Given the description of an element on the screen output the (x, y) to click on. 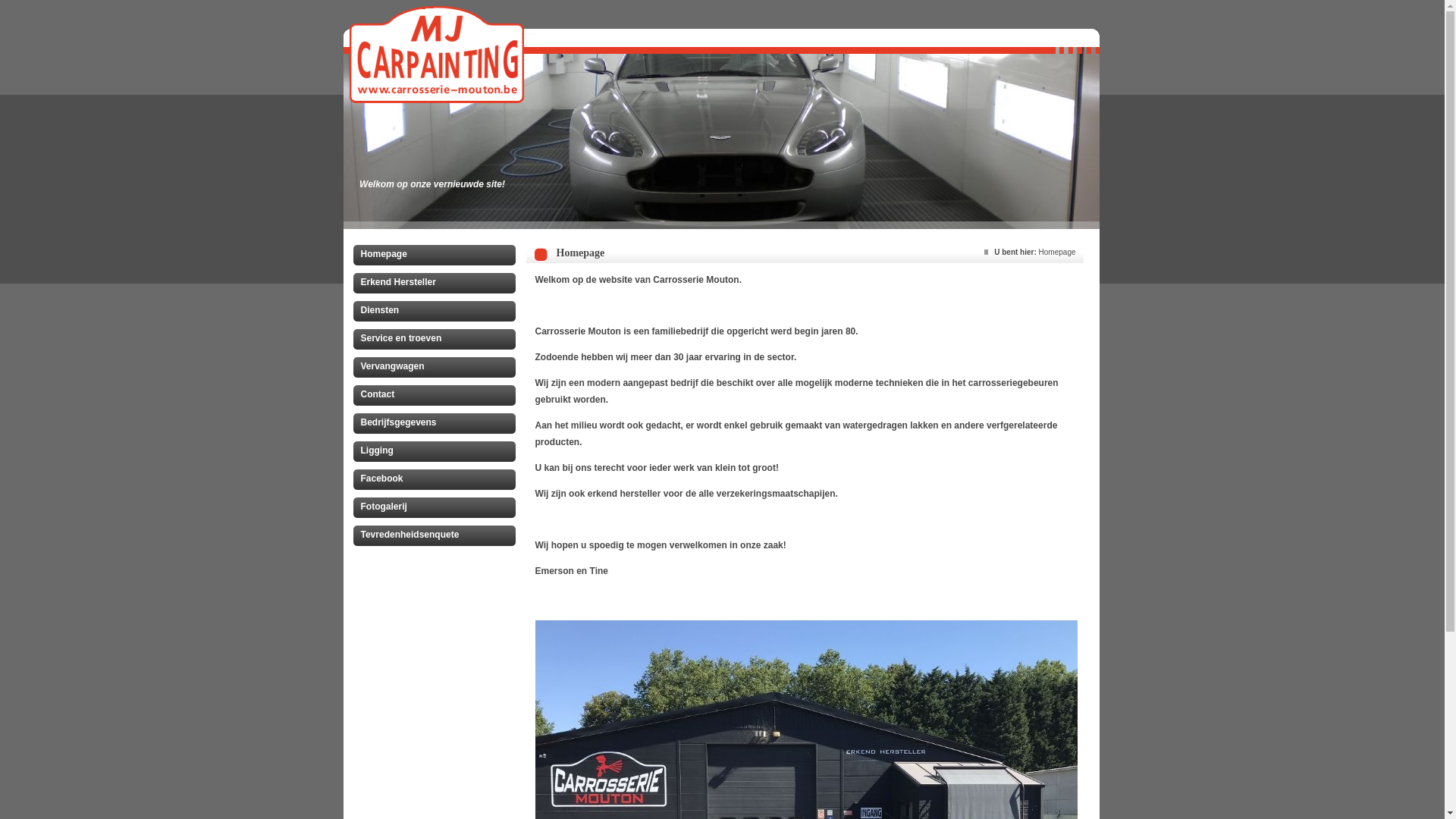
Erkend Hersteller Element type: text (438, 285)
Ligging Element type: text (438, 453)
Facebook Element type: text (438, 481)
Fotogalerij Element type: text (438, 509)
Bedrijfsgegevens Element type: text (438, 425)
Diensten Element type: text (438, 313)
Contact Element type: text (438, 397)
Service en troeven Element type: text (438, 341)
Tevredenheidsenquete Element type: text (438, 537)
Vervangwagen Element type: text (438, 369)
Homepage Element type: text (438, 256)
